Given the description of an element on the screen output the (x, y) to click on. 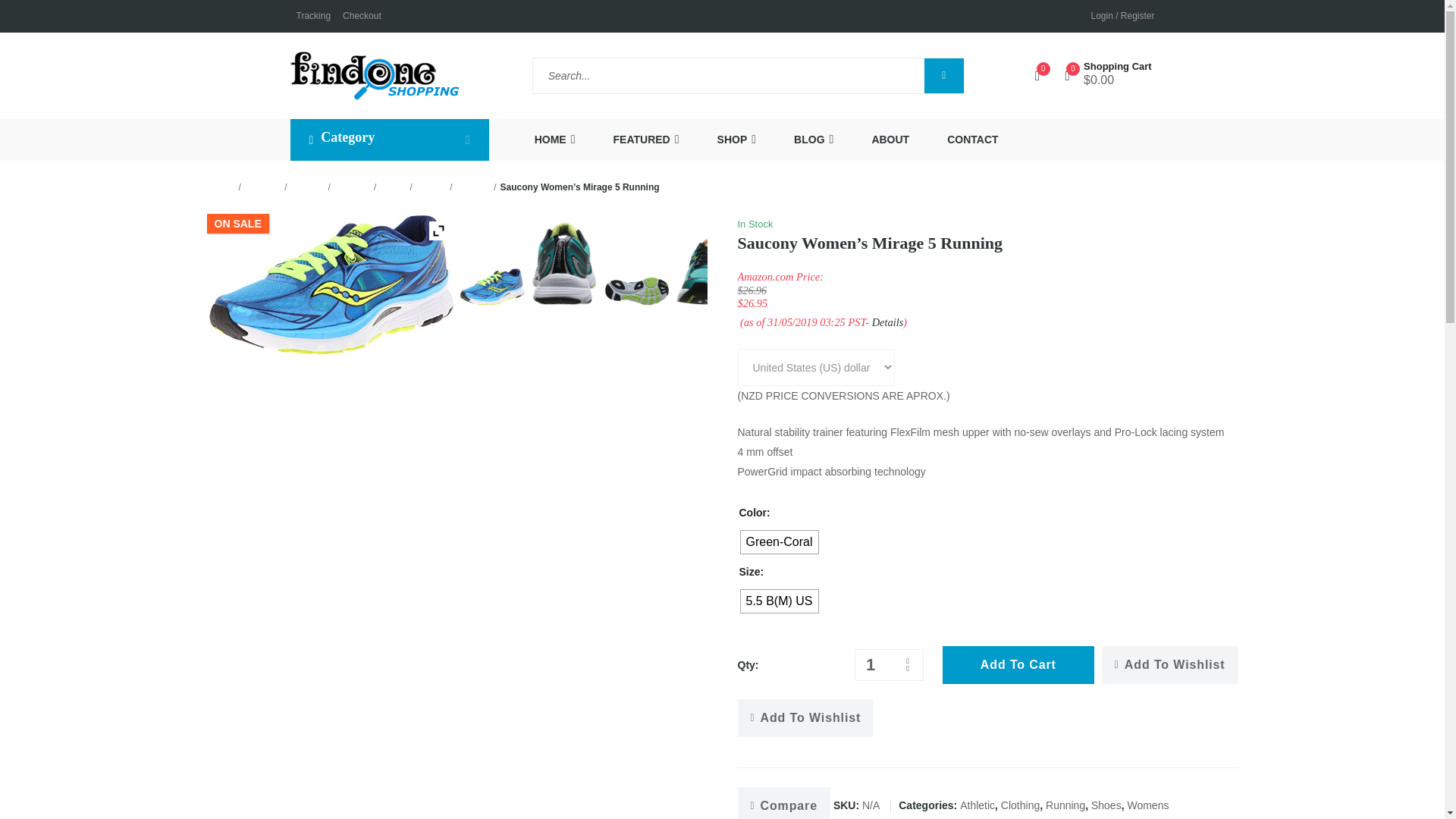
Search (728, 74)
Go to the Clothing Category archives. (307, 186)
- (907, 671)
Checkout (361, 16)
Go to Products. (262, 186)
Go to the Womens Category archives. (351, 186)
Go to the Running Category archives. (473, 186)
Tracking (312, 16)
1 (870, 665)
Go to the Shoes Category archives. (393, 186)
Saucony-Womens-Mirage-5-Running-Shoe (709, 274)
Go to the Athletic Category archives. (430, 186)
Saucony-Womens-Mirage-5-Running-Shoe (492, 290)
0 (1042, 74)
Saucony-Womens-Mirage-5-Running-Shoe (330, 284)
